Given the description of an element on the screen output the (x, y) to click on. 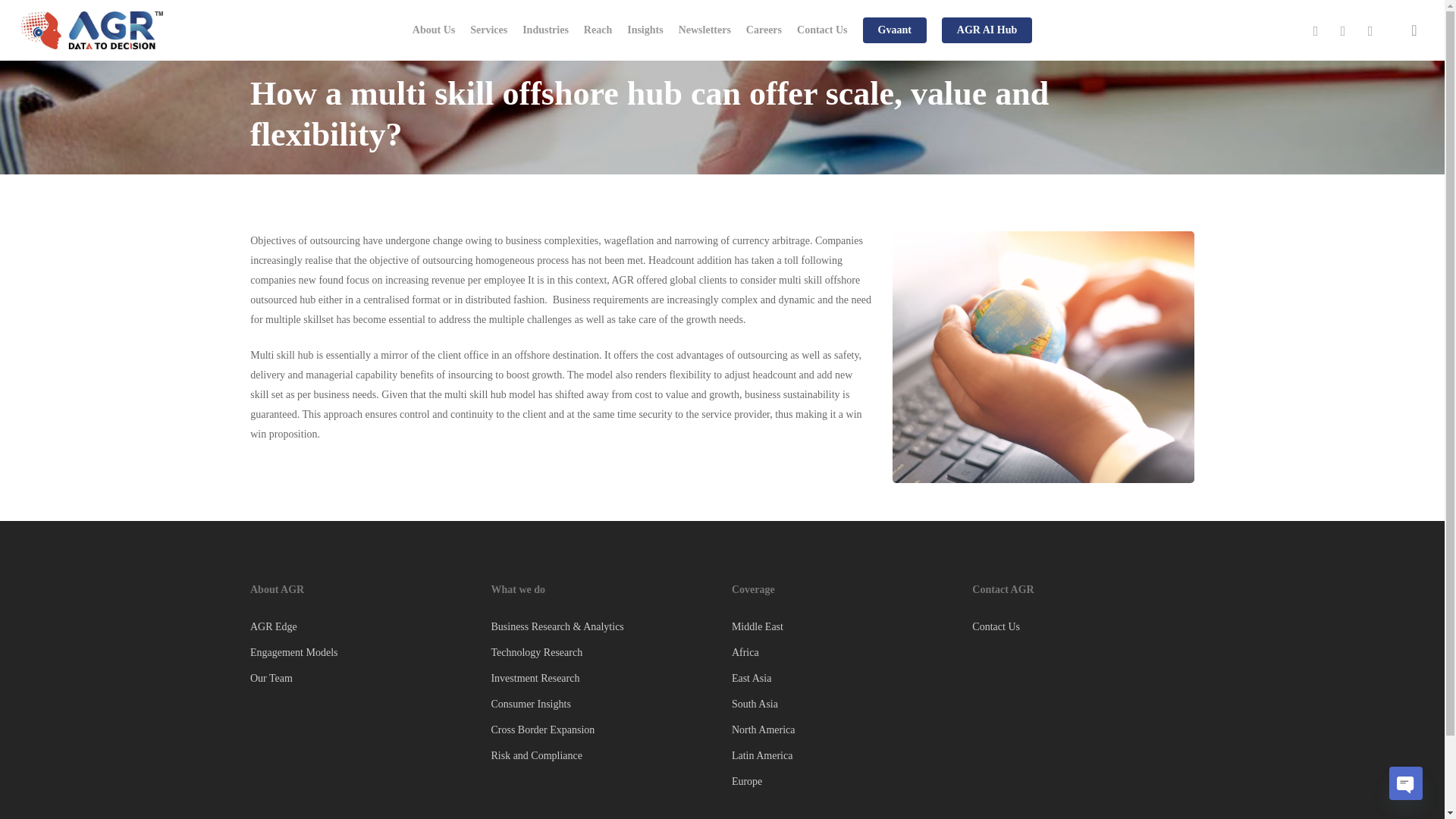
Reach (598, 29)
Industries (545, 29)
About Us (433, 29)
Services (489, 29)
